Given the description of an element on the screen output the (x, y) to click on. 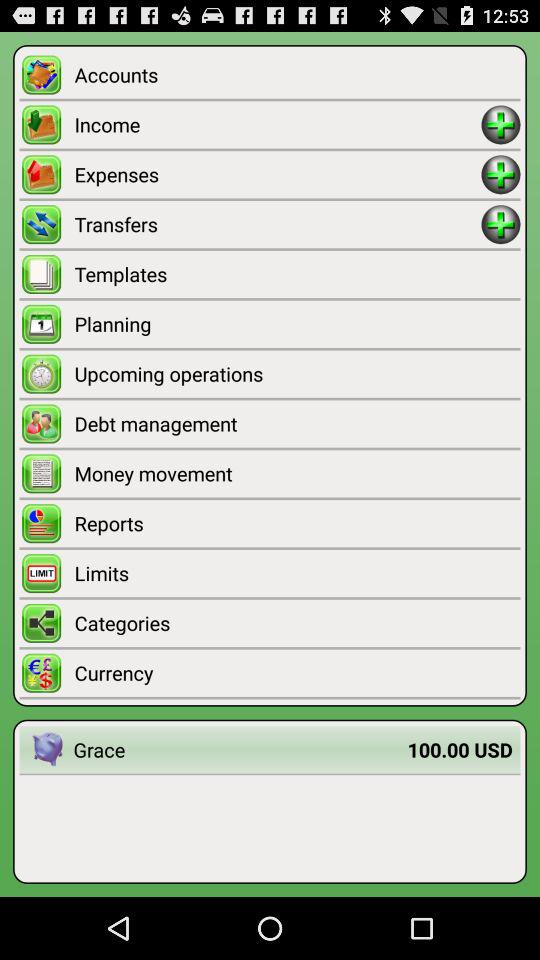
select upcoming operations icon (297, 373)
